Given the description of an element on the screen output the (x, y) to click on. 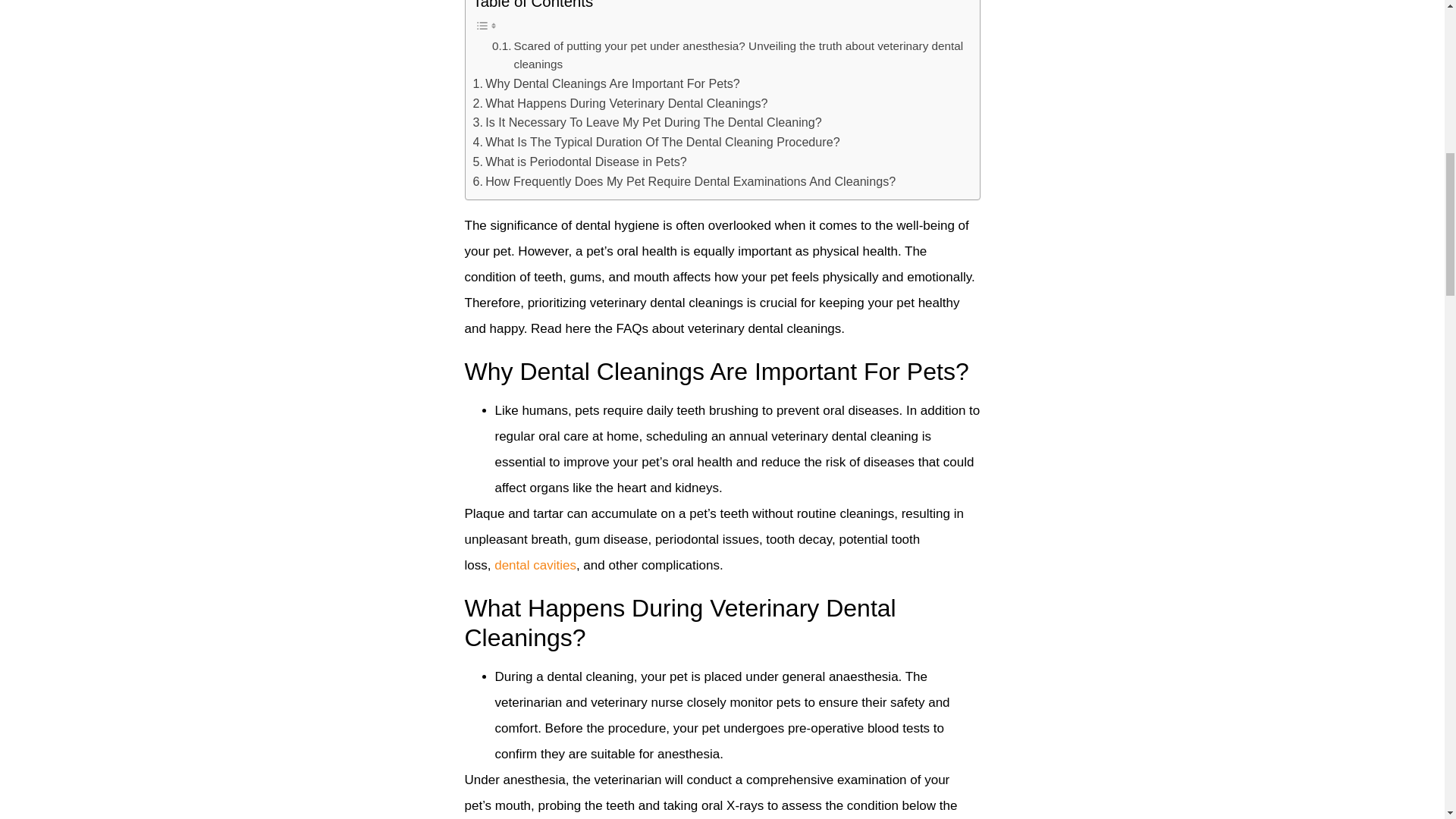
What is Periodontal Disease in Pets? (580, 161)
What Happens During Veterinary Dental Cleanings? (620, 103)
Is It Necessary To Leave My Pet During The Dental Cleaning? (647, 122)
Why Dental Cleanings Are Important For Pets? (606, 84)
